Given the description of an element on the screen output the (x, y) to click on. 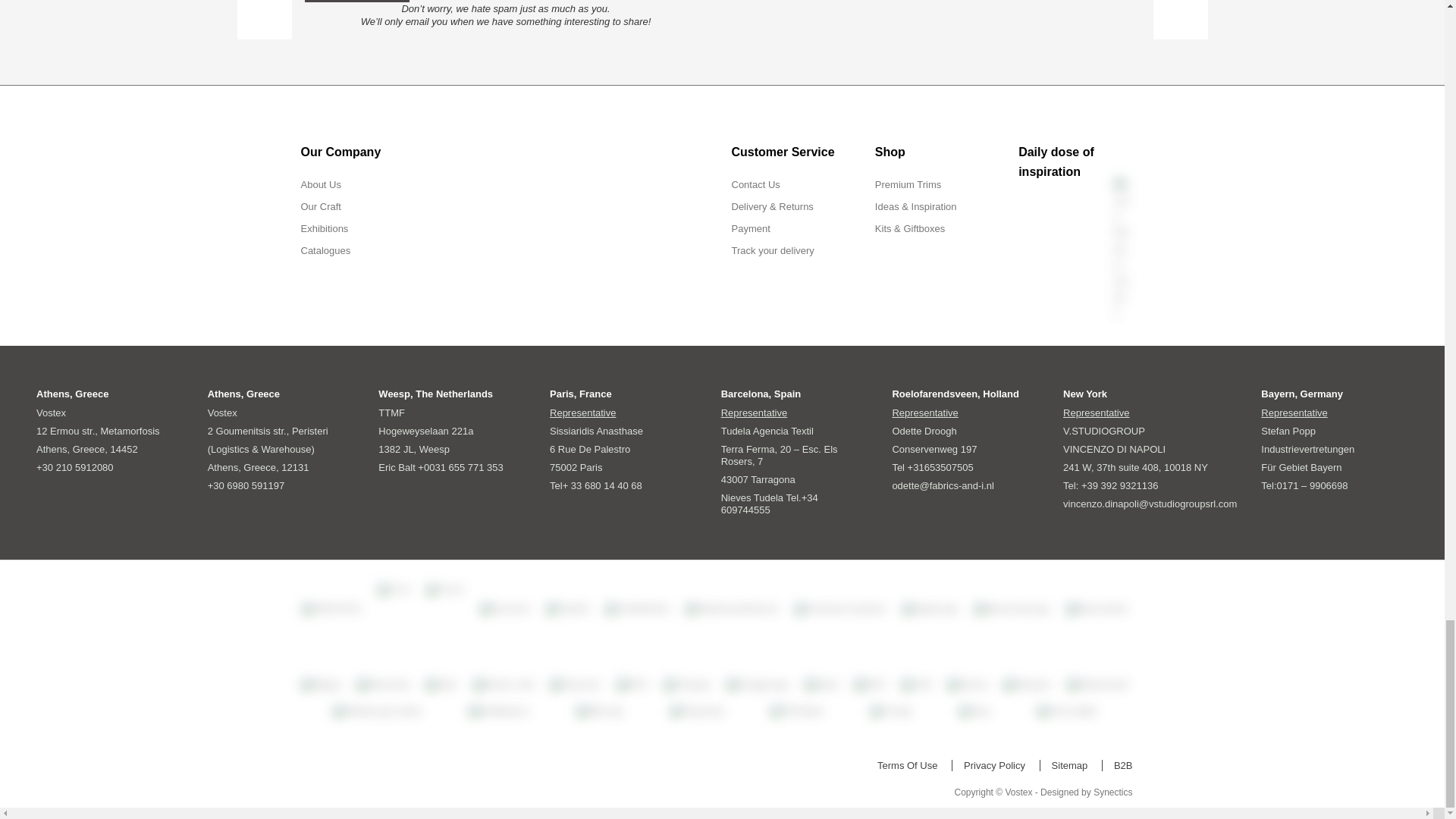
Sign me up (356, 1)
